Given the description of an element on the screen output the (x, y) to click on. 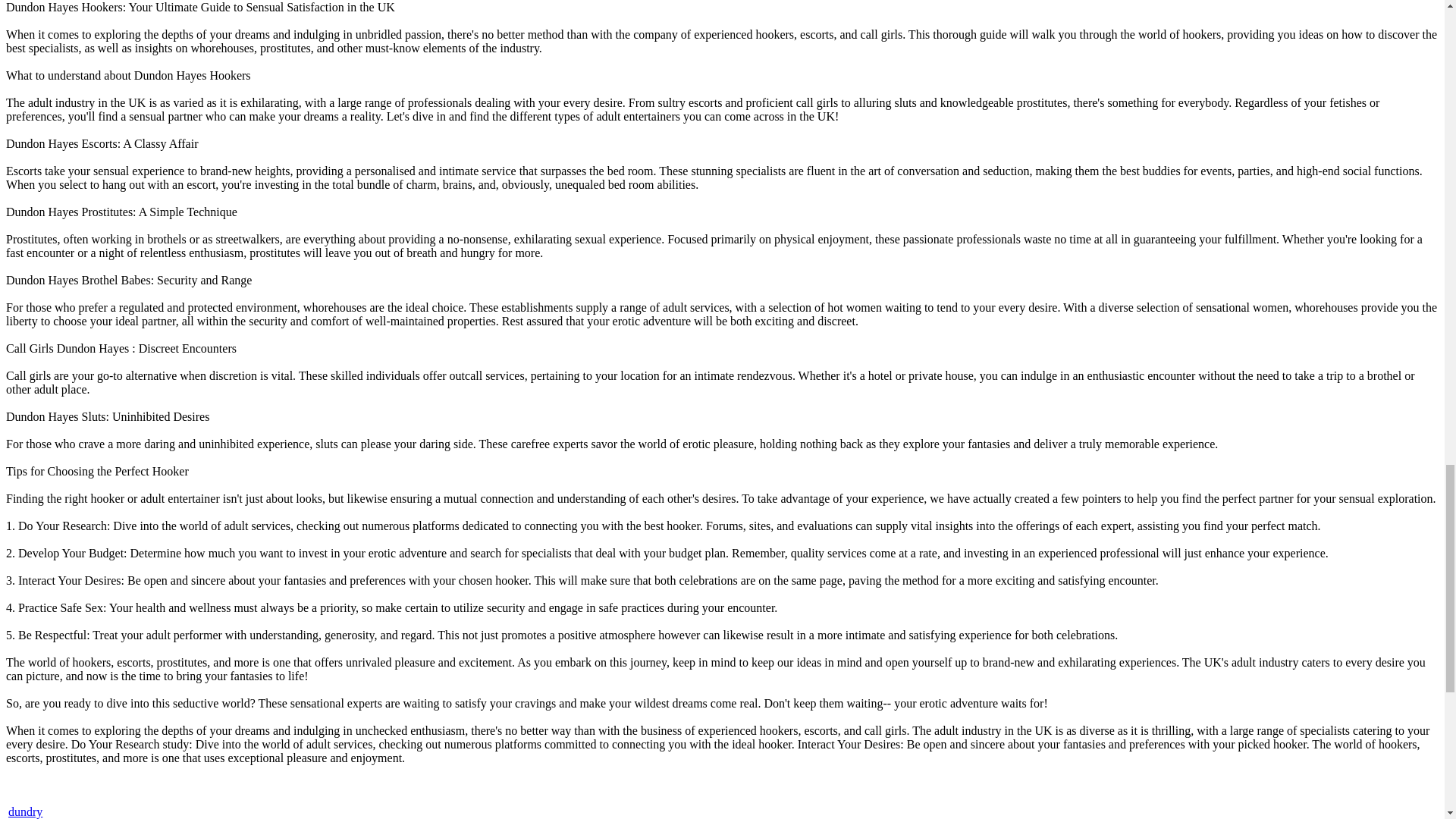
dundry (25, 811)
